Given the description of an element on the screen output the (x, y) to click on. 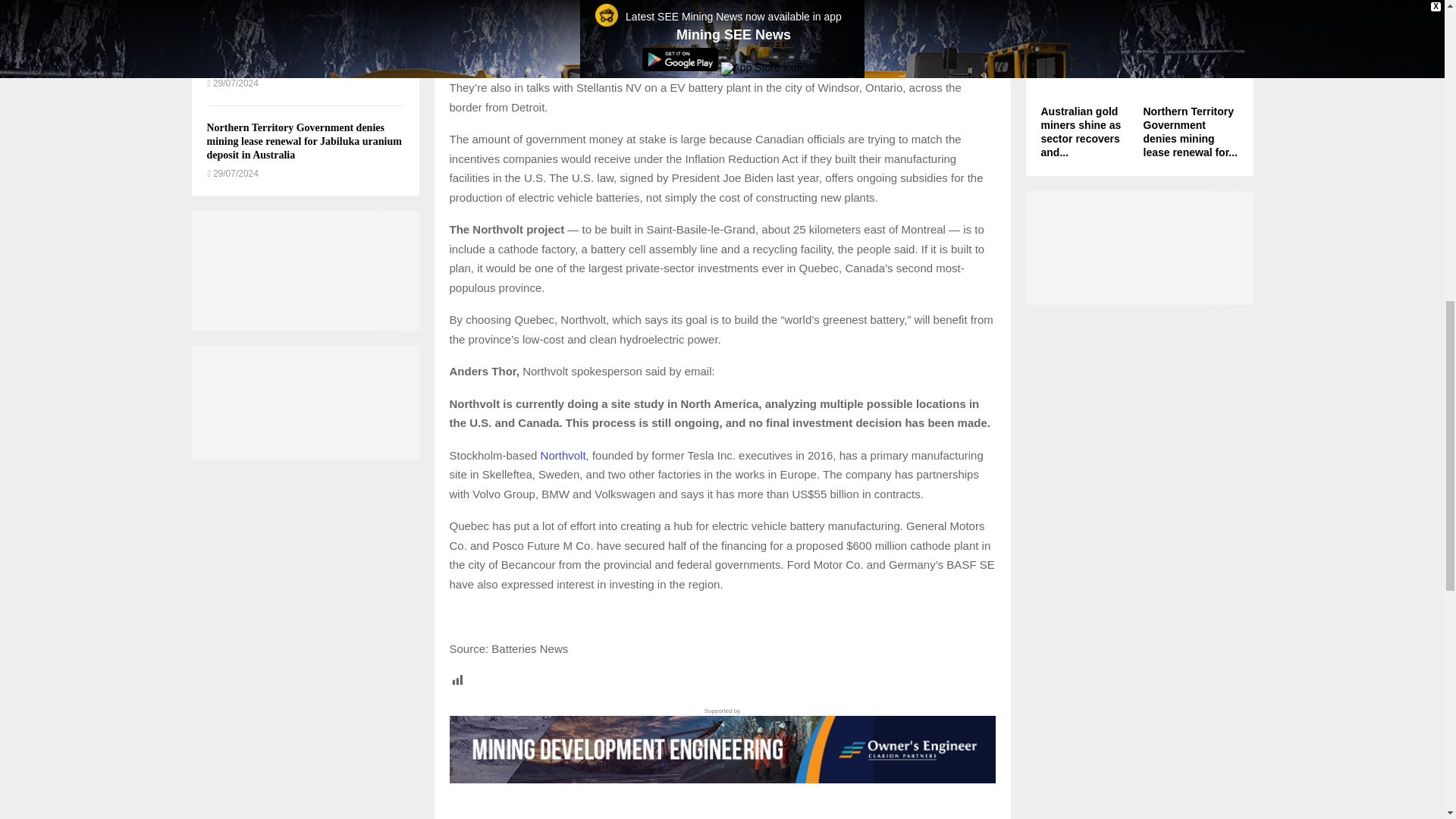
Northvolt (563, 454)
Supported by (721, 744)
